Given the description of an element on the screen output the (x, y) to click on. 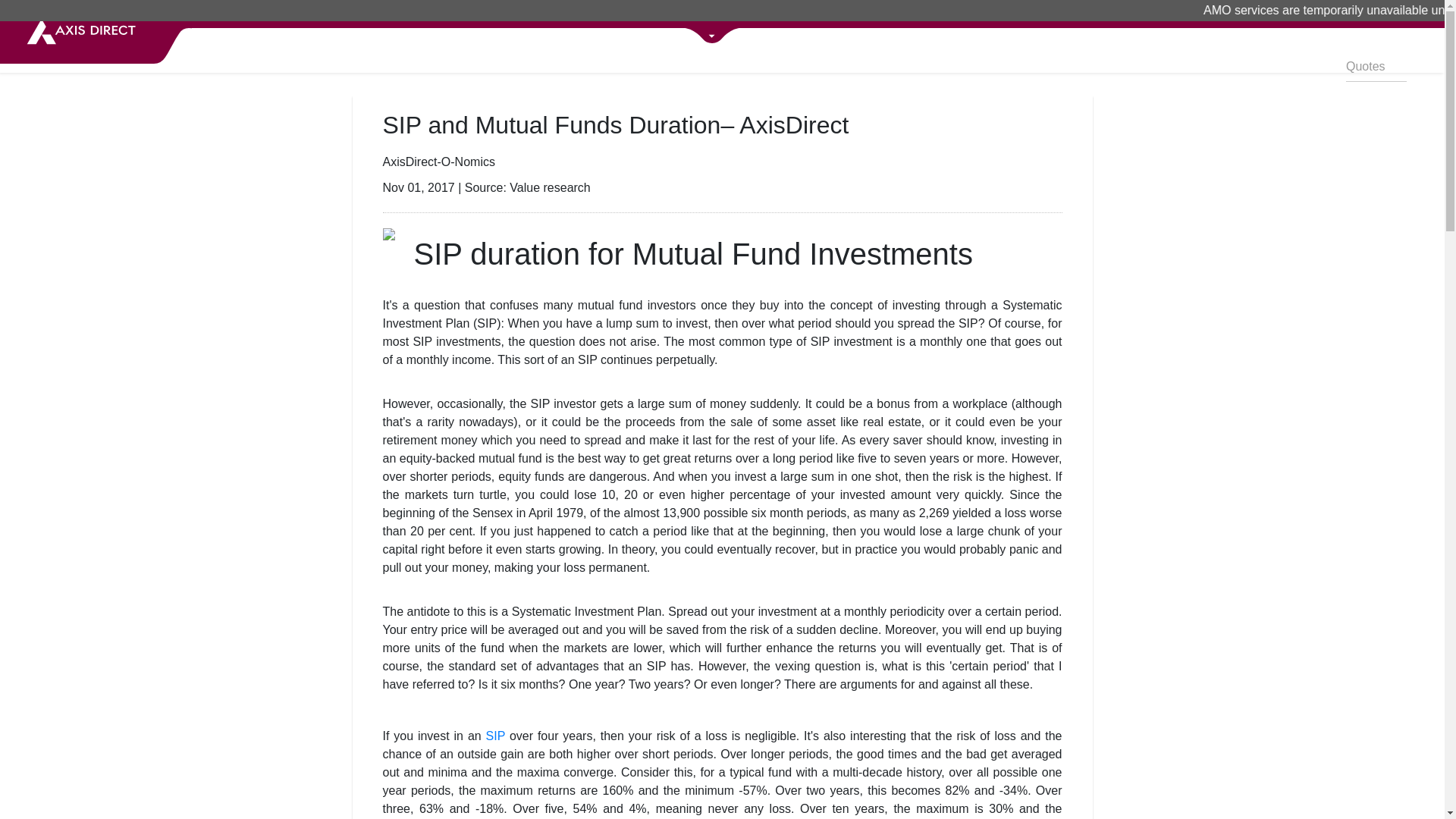
India (1358, 14)
About us (1315, 14)
Support (1404, 14)
SIP (495, 735)
